Given the description of an element on the screen output the (x, y) to click on. 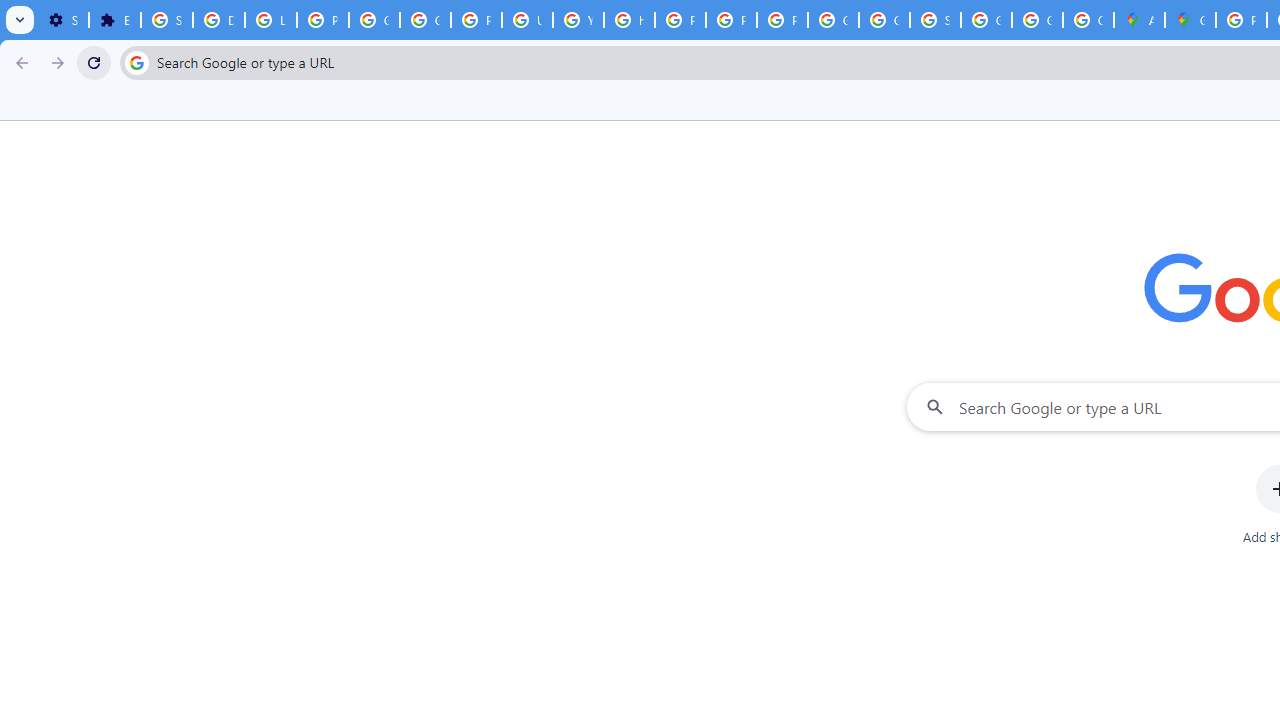
Learn how to find your photos - Google Photos Help (270, 20)
Create your Google Account (1087, 20)
Delete photos & videos - Computer - Google Photos Help (218, 20)
Google Account Help (424, 20)
Search icon (136, 62)
Sign in - Google Accounts (166, 20)
Policy Accountability and Transparency - Transparency Center (1241, 20)
